Given the description of an element on the screen output the (x, y) to click on. 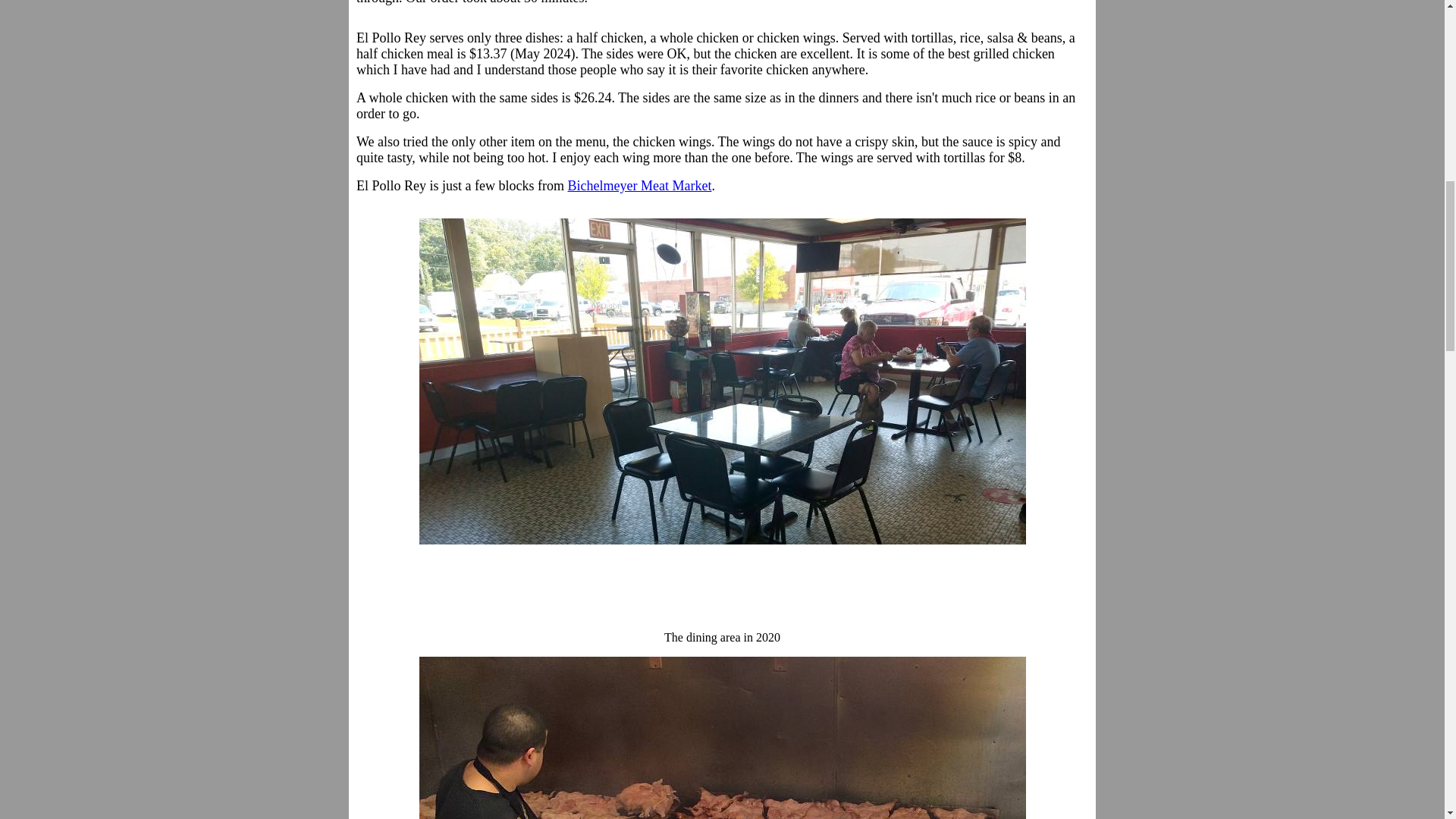
Bichelmeyer Meat Market (639, 185)
